Given the description of an element on the screen output the (x, y) to click on. 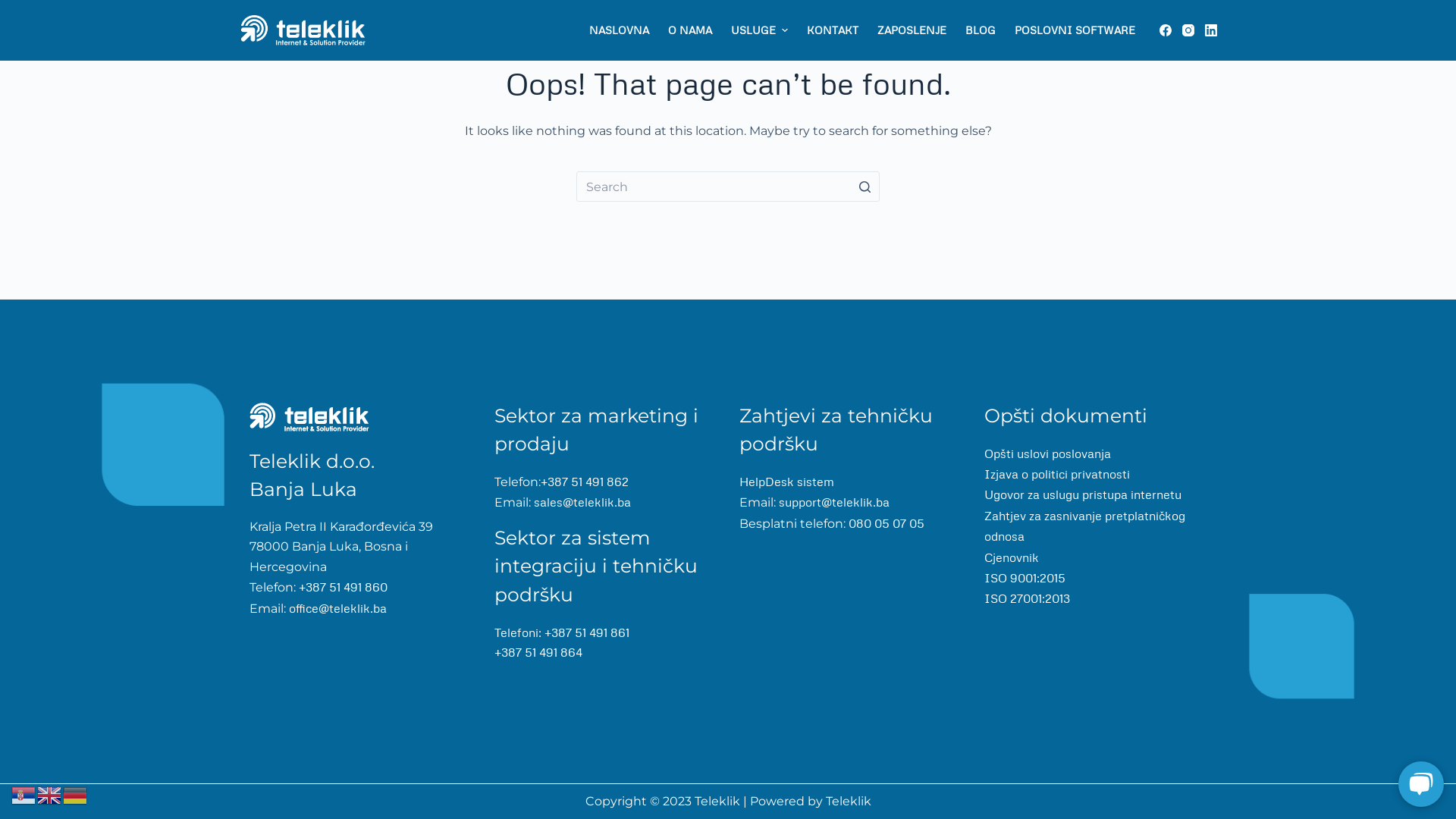
USLUGE Element type: text (759, 30)
German Element type: hover (75, 793)
+387 51 491 861 Element type: text (586, 632)
ISO 27001:2013 Element type: text (1027, 597)
Skip to content Element type: text (15, 7)
English Element type: hover (49, 793)
support@teleklik.ba Element type: text (832, 501)
NASLOVNA Element type: text (618, 30)
Search for... Element type: hover (727, 186)
POSLOVNI SOFTWARE Element type: text (1074, 30)
Cjenovnik Element type: text (1011, 556)
KONTAKT Element type: text (832, 30)
+387 51 491 862 Element type: text (584, 481)
080 05 07 05 Element type: text (884, 522)
BLOG Element type: text (979, 30)
Ugovor za uslugu pristupa internetu Element type: text (1082, 494)
+387 51 491 860 Element type: text (341, 586)
Serbian Element type: hover (24, 793)
ZAPOSLENJE Element type: text (911, 30)
ISO 9001:2015 Element type: text (1024, 577)
+387 51 491 864 Element type: text (538, 651)
Izjava o politici privatnosti Element type: text (1056, 473)
HelpDesk sistem Element type: text (786, 481)
office@teleklik.ba Element type: text (335, 607)
sales@teleklik.ba Element type: text (581, 501)
O NAMA Element type: text (689, 30)
